Given the description of an element on the screen output the (x, y) to click on. 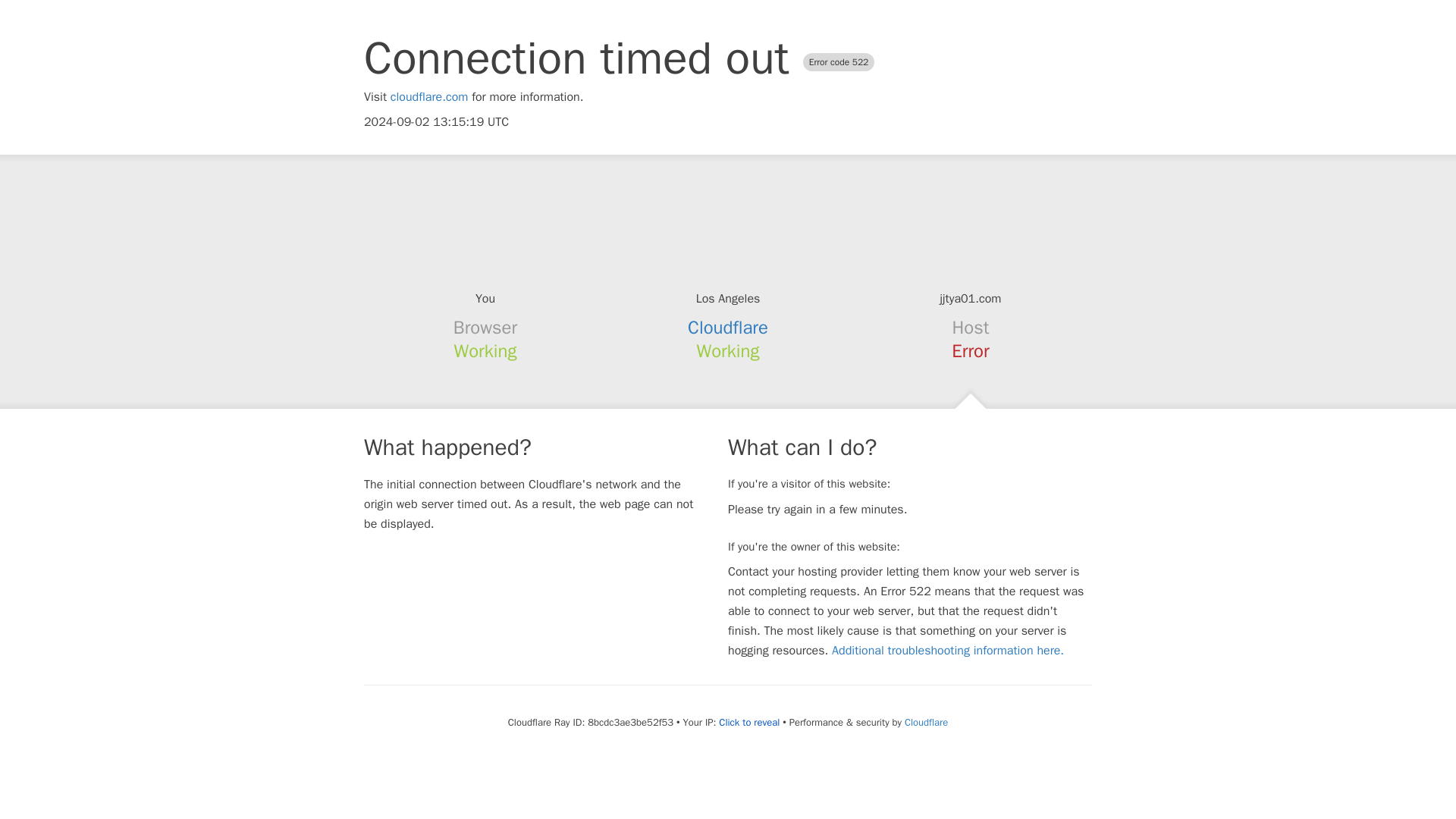
Additional troubleshooting information here. (947, 650)
Cloudflare (925, 721)
Click to reveal (748, 722)
cloudflare.com (429, 96)
Cloudflare (727, 327)
